Given the description of an element on the screen output the (x, y) to click on. 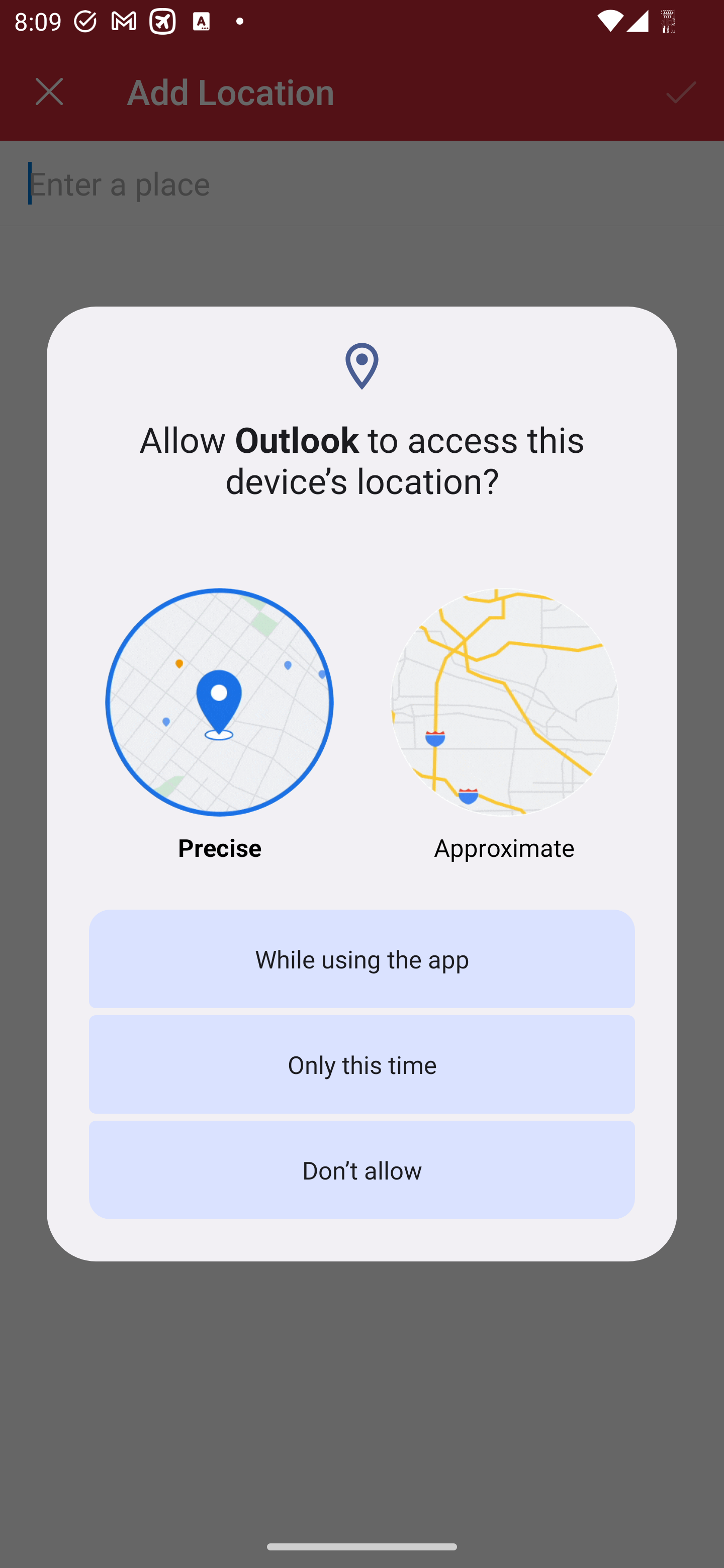
Precise (218, 725)
Approximate (504, 725)
While using the app (361, 958)
Only this time (361, 1063)
Don’t allow (361, 1170)
